Given the description of an element on the screen output the (x, y) to click on. 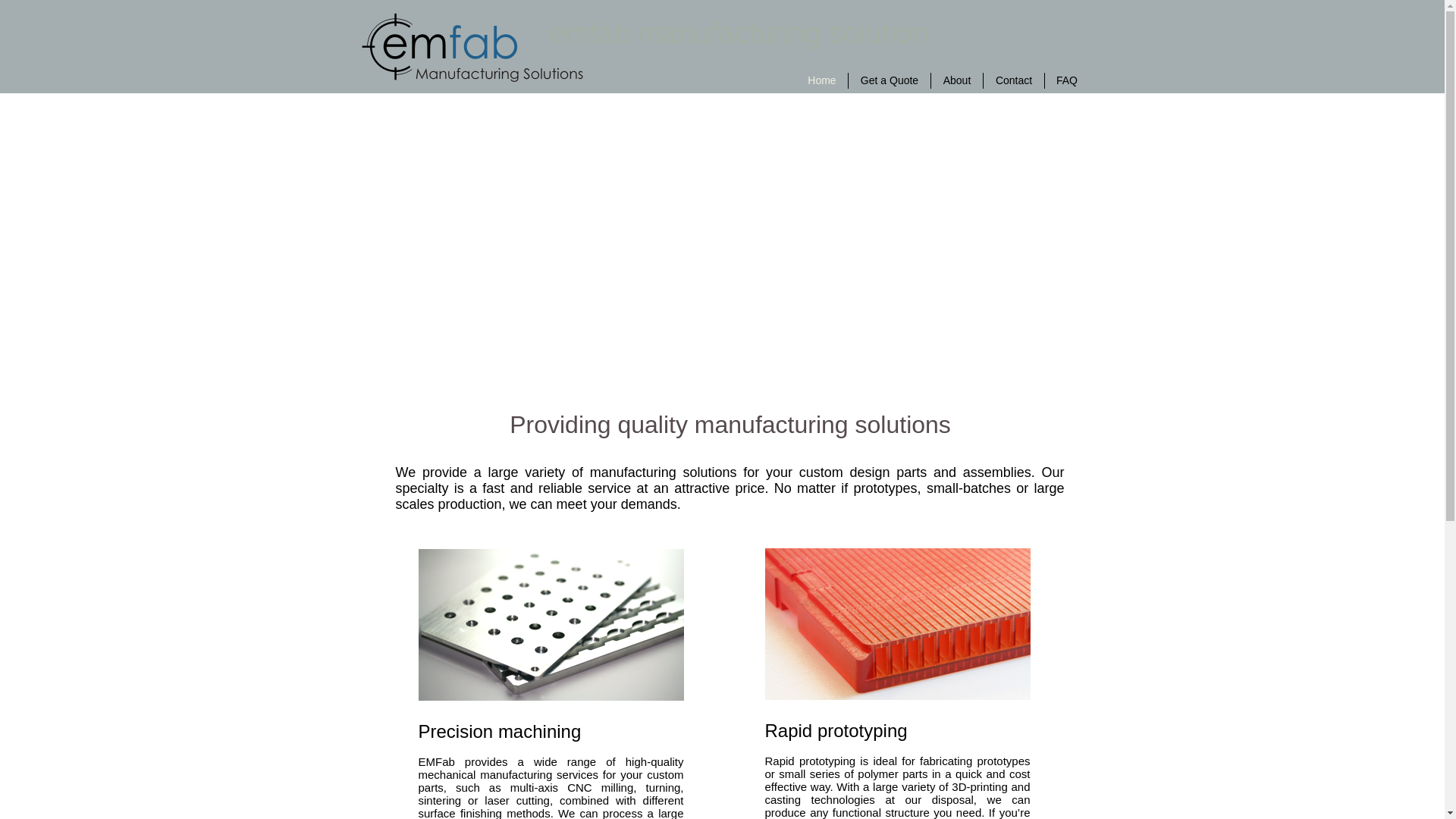
RP3.png (896, 623)
Get a Quote (889, 80)
mech.png (551, 624)
About (956, 80)
Contact (1013, 80)
FAQ (1067, 80)
Home (821, 80)
